Given the description of an element on the screen output the (x, y) to click on. 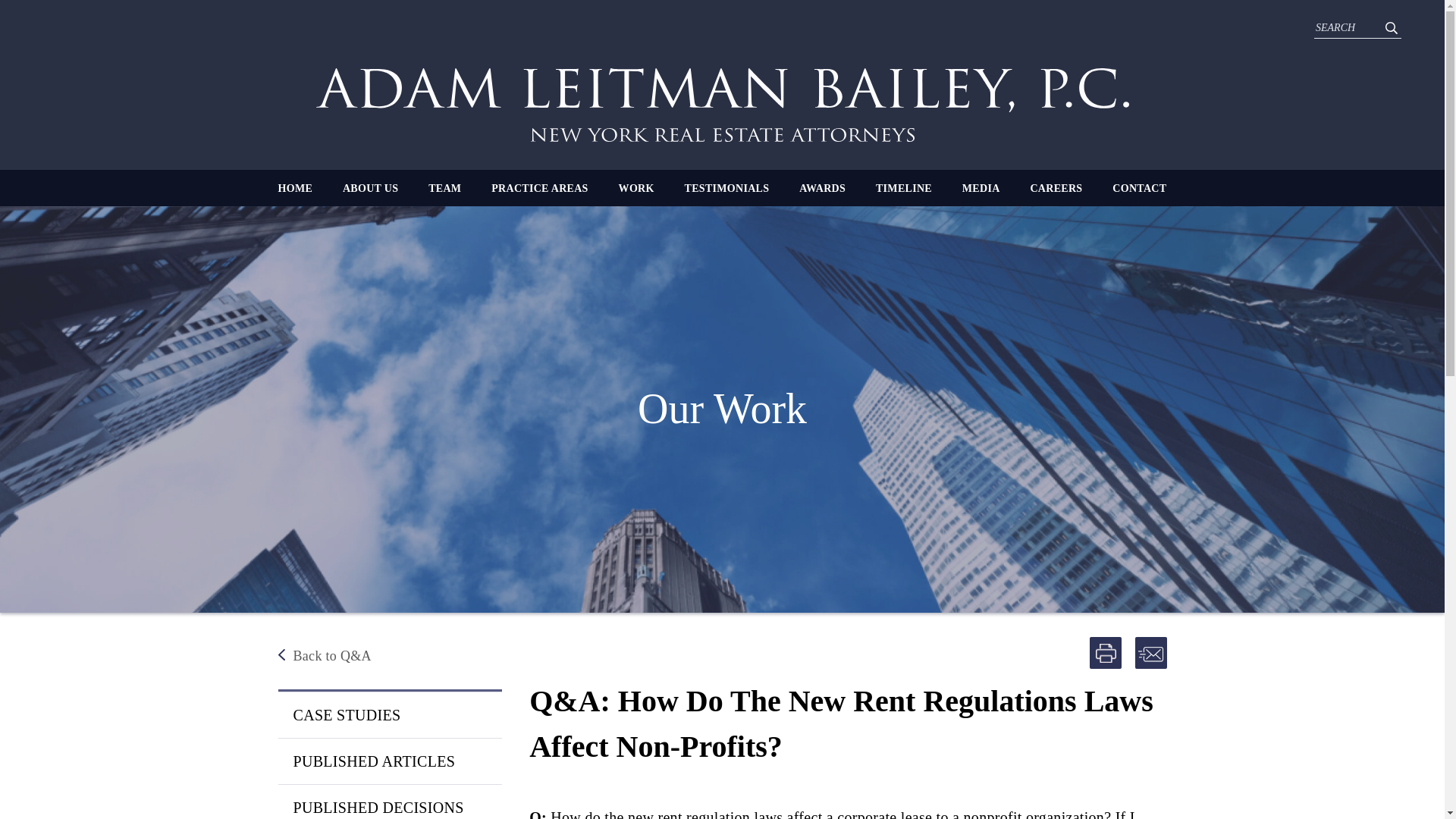
CASE STUDIES (389, 714)
AWARDS (822, 187)
ABOUT US (369, 187)
TIMELINE (903, 187)
TEAM (444, 187)
PUBLISHED ARTICLES (389, 760)
PRACTICE AREAS (540, 187)
CAREERS (1055, 187)
WORK (635, 187)
CONTACT (1139, 187)
